Given the description of an element on the screen output the (x, y) to click on. 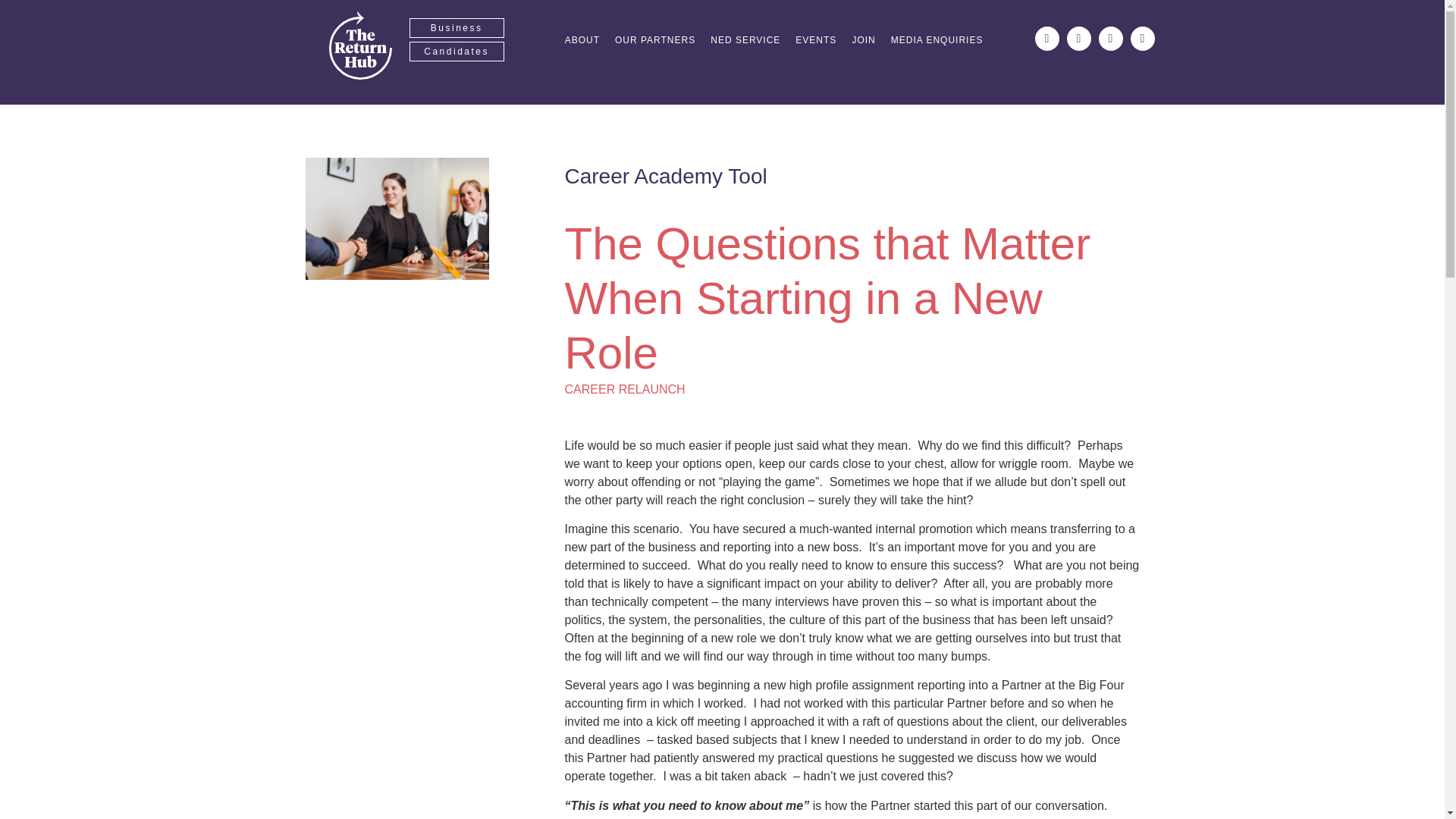
Business (456, 27)
OUR PARTNERS (654, 40)
EVENTS (814, 40)
ABOUT (581, 40)
trh-logo-white (360, 45)
NED SERVICE (745, 40)
MEDIA ENQUIRIES (937, 40)
Candidates (456, 51)
